Given the description of an element on the screen output the (x, y) to click on. 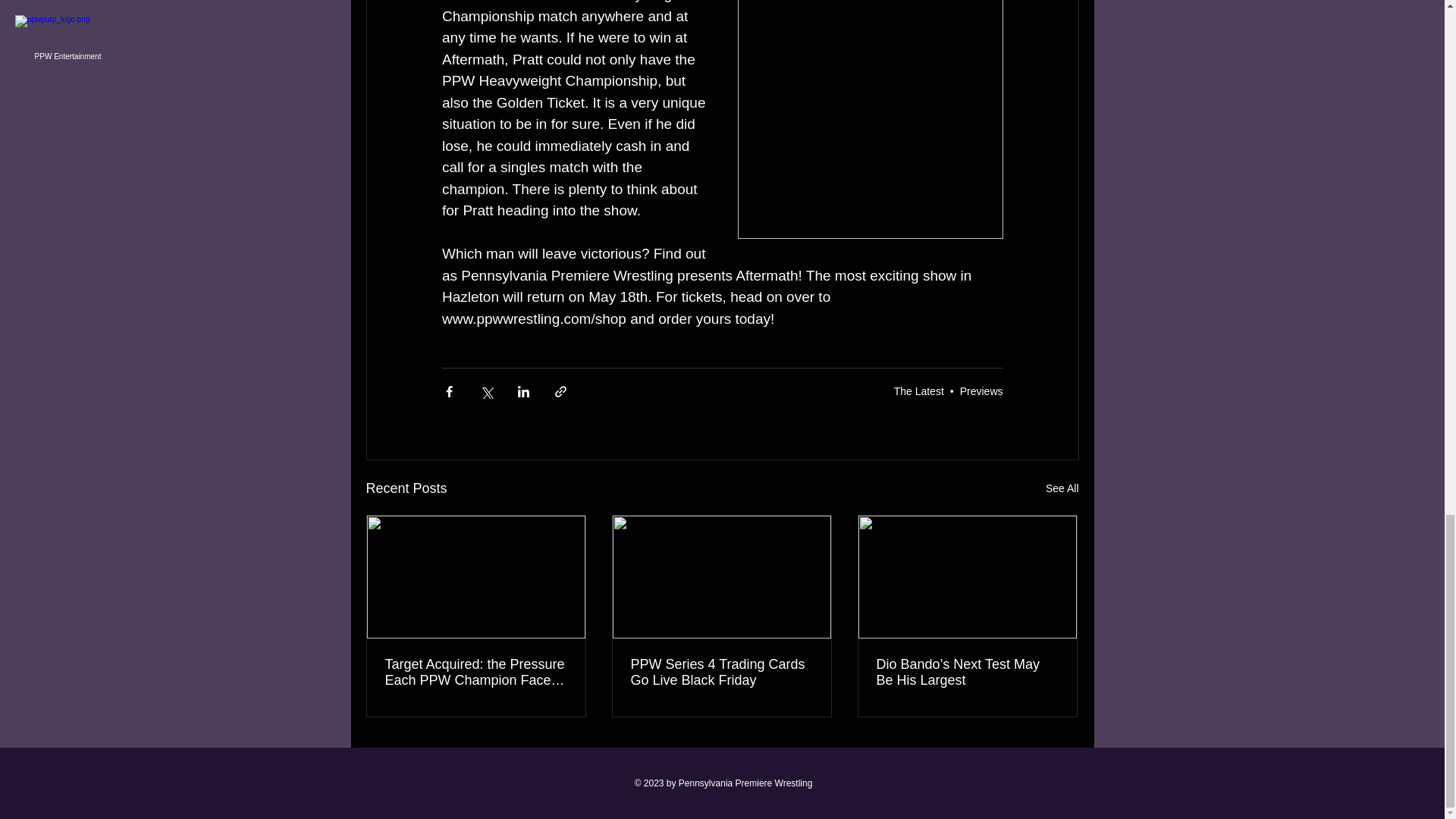
The Latest (918, 390)
See All (1061, 488)
Previews (981, 390)
